Given the description of an element on the screen output the (x, y) to click on. 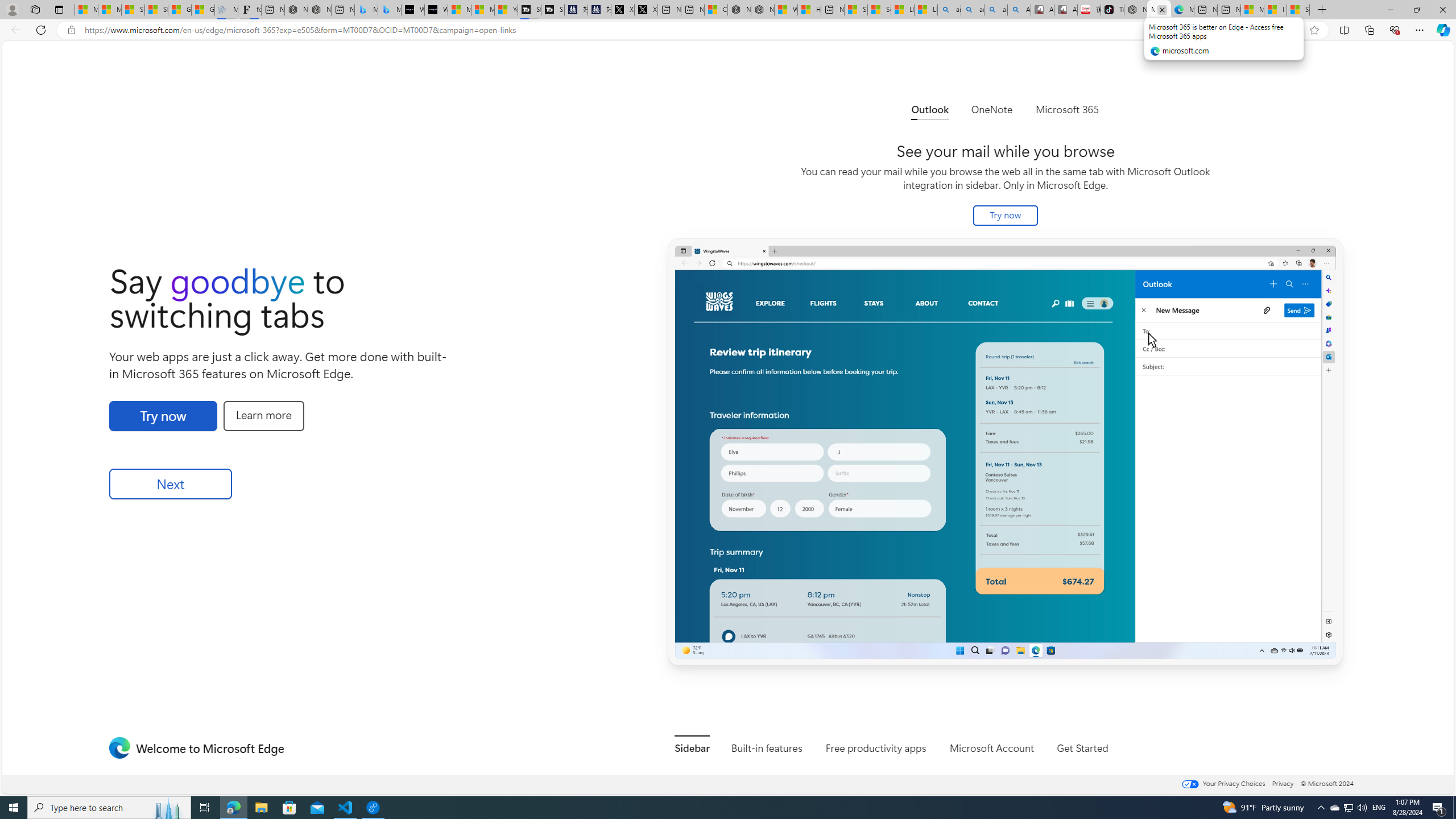
Amazon Echo Robot - Search Images (1019, 9)
Streaming Coverage | T3 (529, 9)
